Given the description of an element on the screen output the (x, y) to click on. 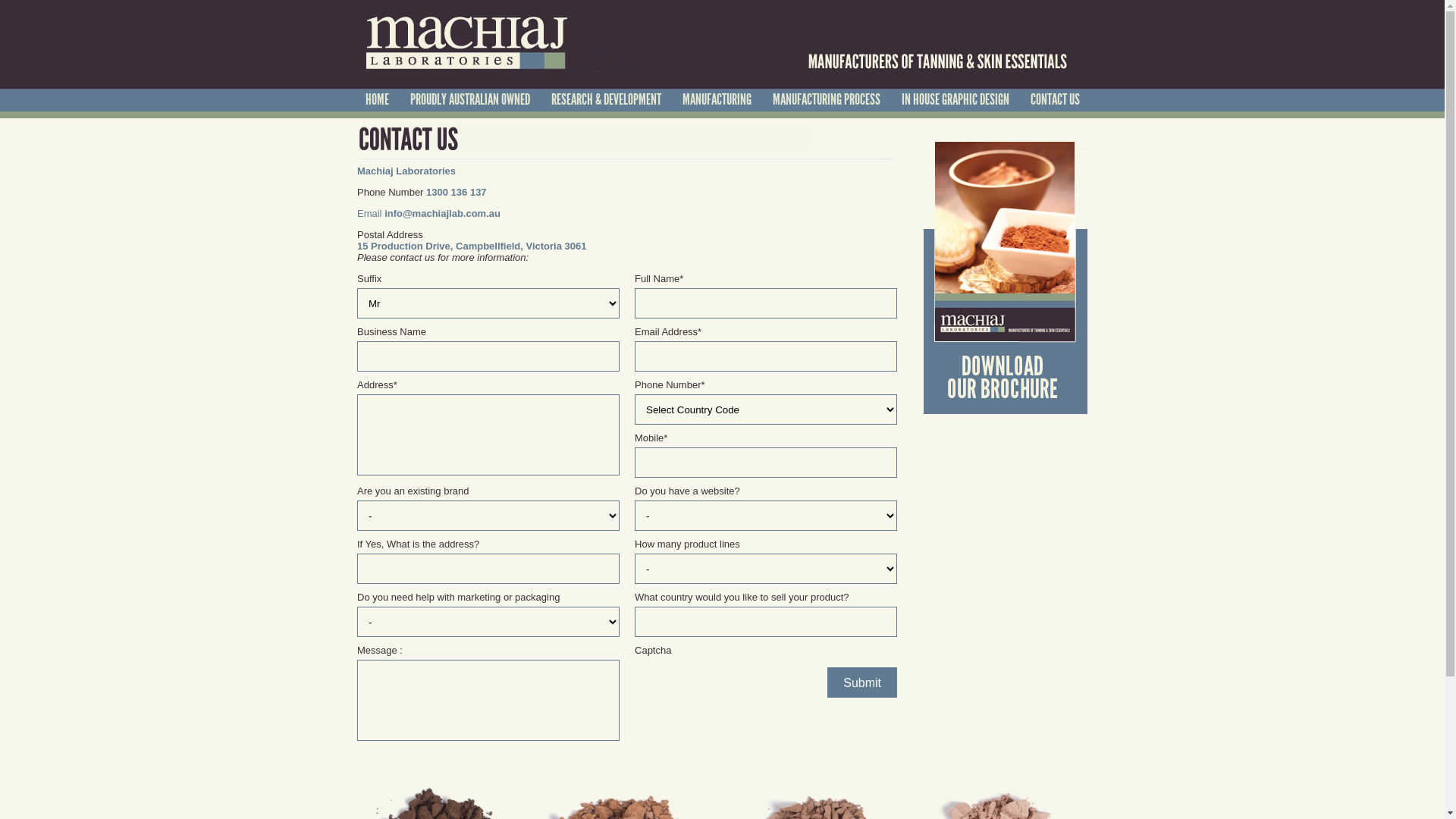
HOME Element type: text (376, 98)
CONTACT US Element type: text (1054, 98)
1300 136 137 Element type: text (456, 191)
RESEARCH & DEVELOPMENT Element type: text (605, 98)
MANUFACTURING Element type: text (716, 98)
Email Element type: text (370, 213)
MANUFACTURING PROCESS Element type: text (825, 98)
Machiaj Laboratories Pty Ltd Element type: hover (722, 40)
info@machiajlab.com.au Element type: text (442, 213)
PROUDLY AUSTRALIAN OWNED Element type: text (468, 98)
IN HOUSE GRAPHIC DESIGN Element type: text (954, 98)
